Given the description of an element on the screen output the (x, y) to click on. 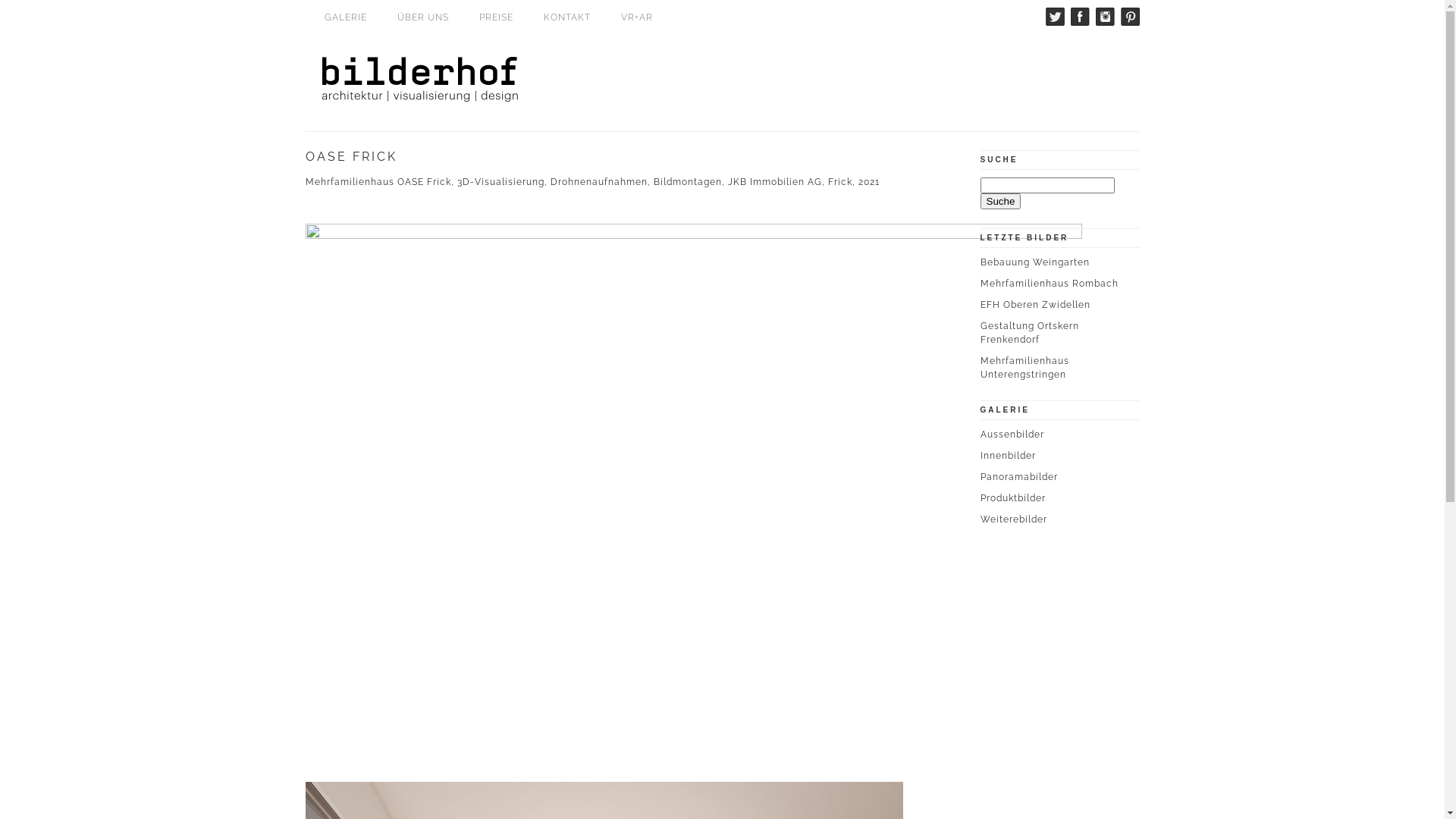
PREISE Element type: text (495, 17)
EFH Oberen Zwidellen Element type: text (1034, 304)
GALERIE Element type: text (344, 17)
Innenbilder Element type: text (1007, 455)
VR+AR Element type: text (636, 17)
Gestaltung Ortskern Frenkendorf Element type: text (1028, 332)
KONTAKT Element type: text (567, 17)
Aussenbilder Element type: text (1011, 434)
Bebauung Weingarten Element type: text (1033, 262)
Produktbilder Element type: text (1011, 497)
Suche Element type: text (999, 201)
Weiterebilder Element type: text (1012, 519)
Panoramabilder Element type: text (1018, 476)
Mehrfamilienhaus Unterengstringen Element type: text (1023, 367)
Mehrfamilienhaus Rombach Element type: text (1048, 283)
